Given the description of an element on the screen output the (x, y) to click on. 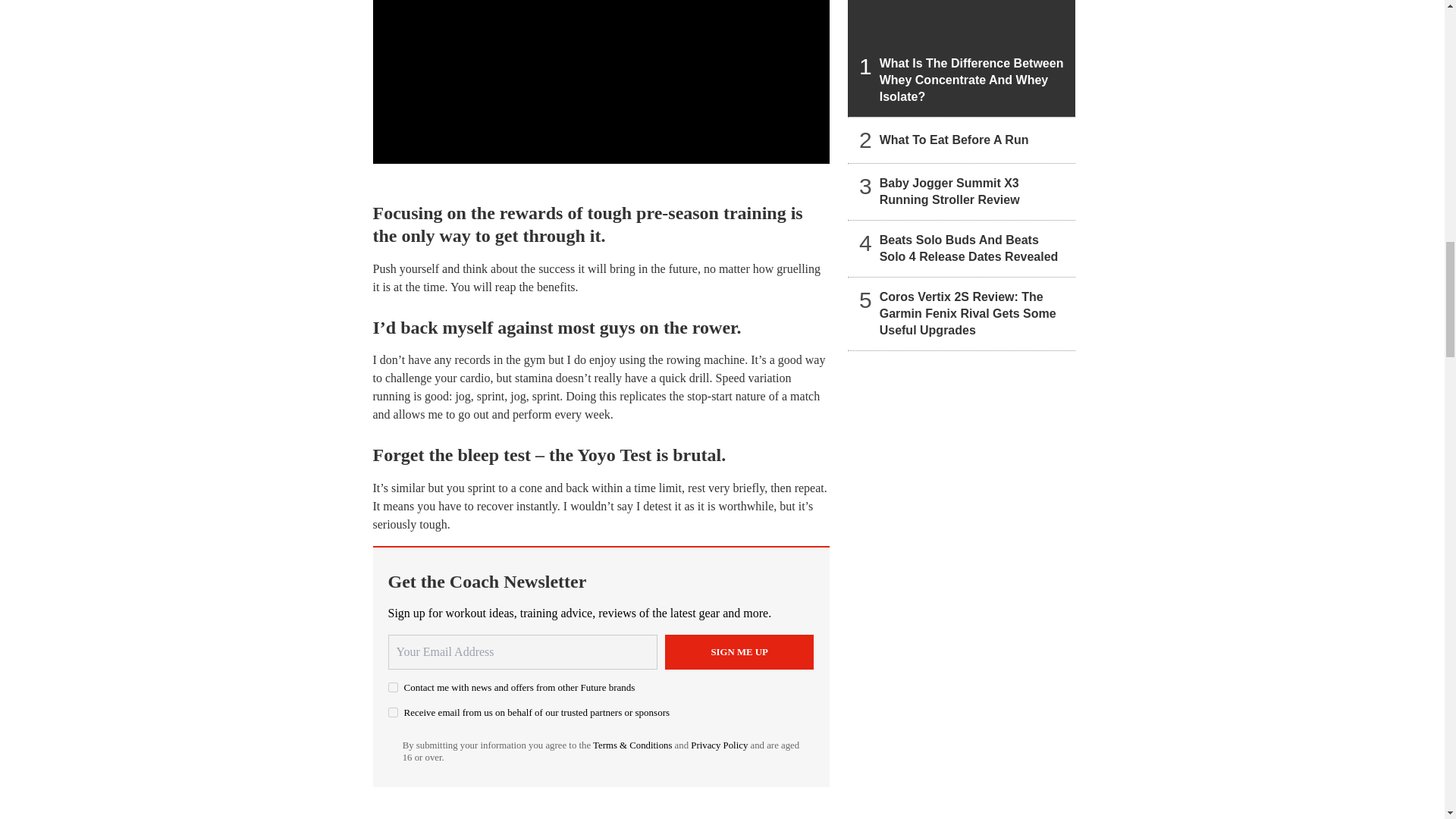
Privacy Policy (719, 745)
Sign me up (739, 651)
Sign me up (739, 651)
on (392, 712)
on (392, 687)
